Given the description of an element on the screen output the (x, y) to click on. 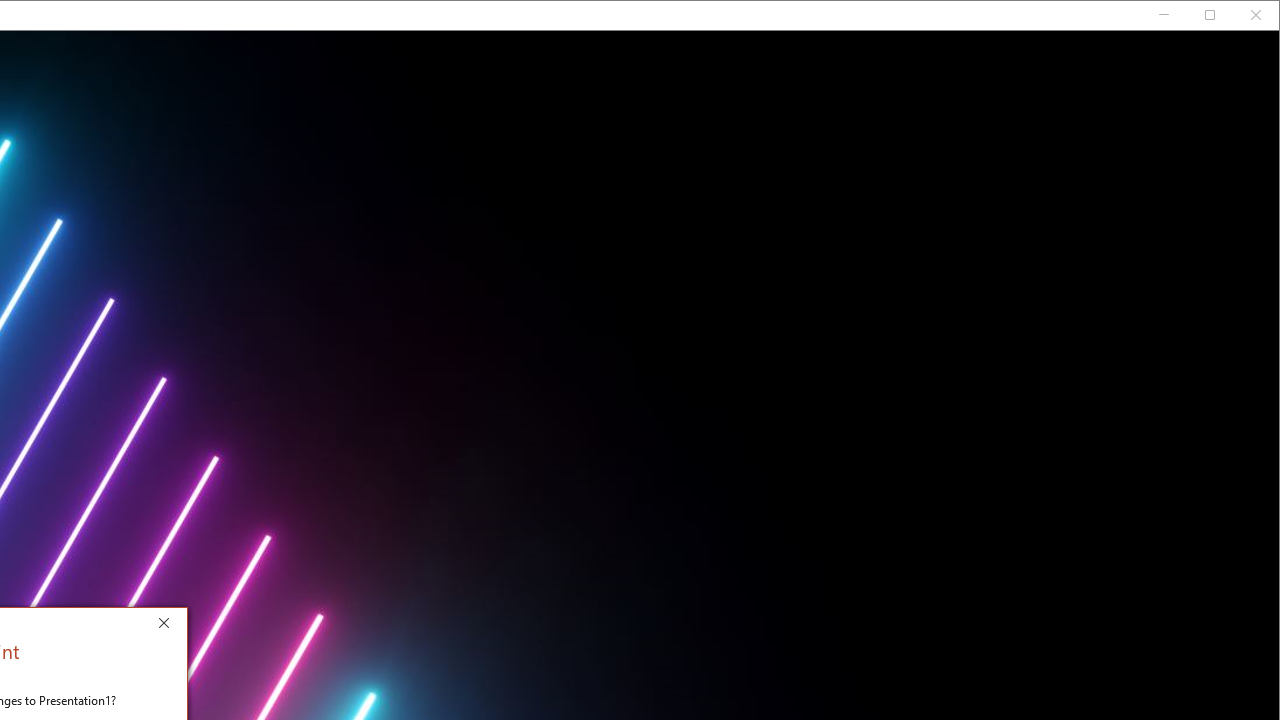
Maximize (1238, 18)
